Given the description of an element on the screen output the (x, y) to click on. 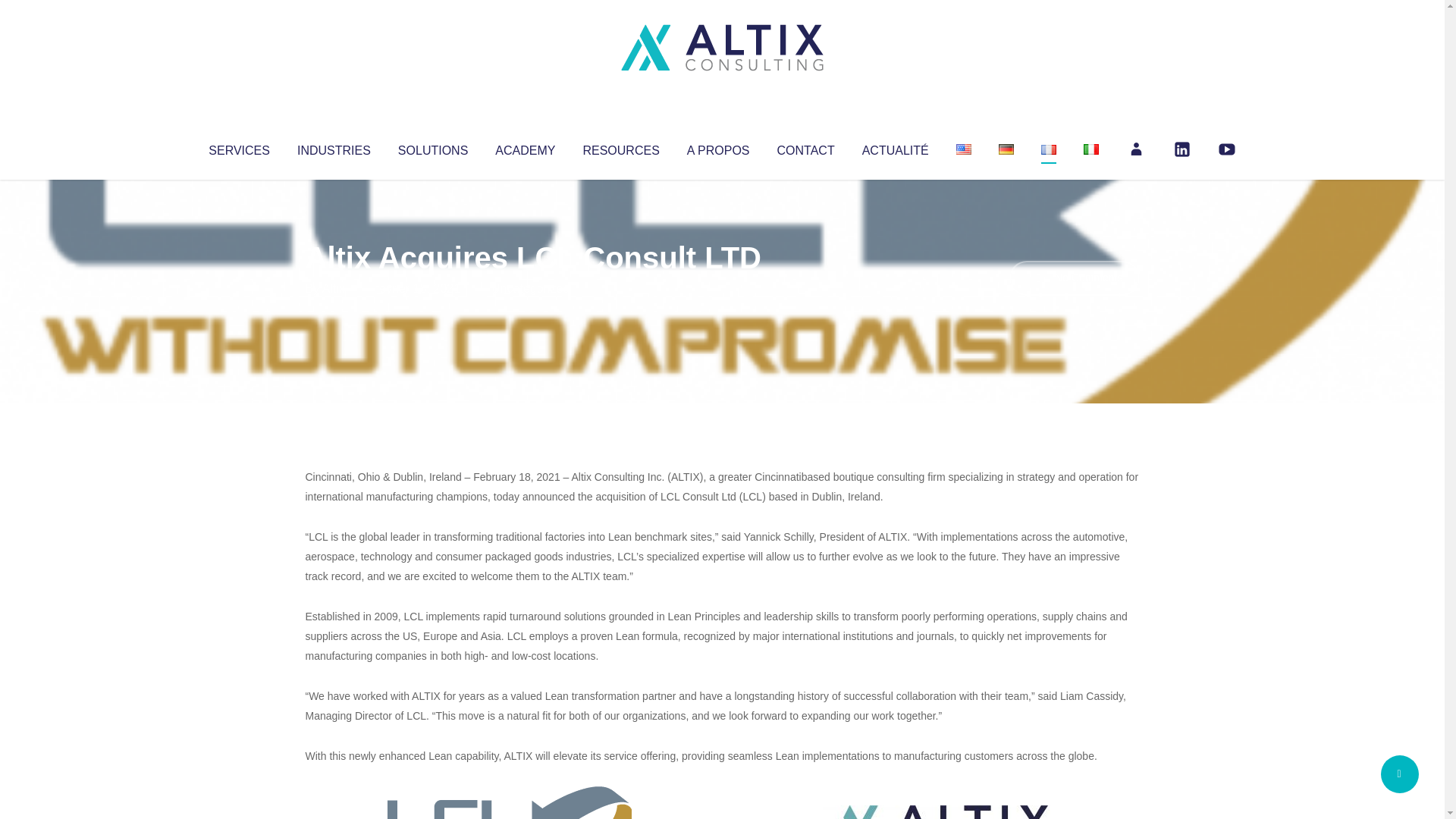
SOLUTIONS (432, 146)
No Comments (1073, 278)
A PROPOS (718, 146)
Altix (333, 287)
INDUSTRIES (334, 146)
RESOURCES (620, 146)
Uncategorized (530, 287)
ACADEMY (524, 146)
Articles par Altix (333, 287)
SERVICES (238, 146)
